Given the description of an element on the screen output the (x, y) to click on. 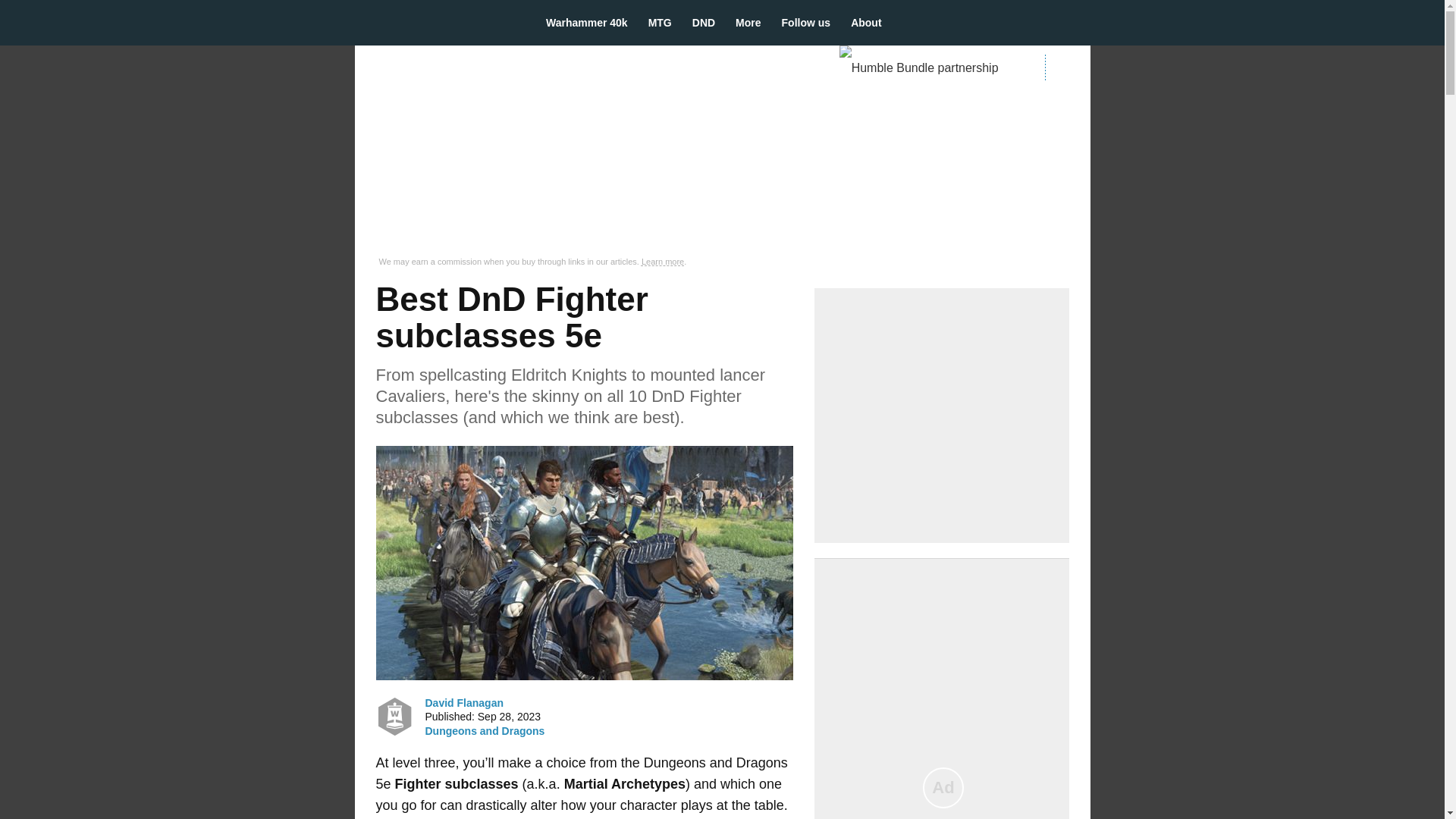
Humble Bundle partnership (925, 67)
Network N Media (1067, 67)
Warhammer 40k (591, 22)
David Flanagan (463, 702)
David Flanagan (394, 716)
Follow us (810, 22)
Wargamer (437, 22)
Dungeons and Dragons (484, 730)
Learn more (663, 261)
Best DnD Fighter subclasses 5e (584, 562)
